Given the description of an element on the screen output the (x, y) to click on. 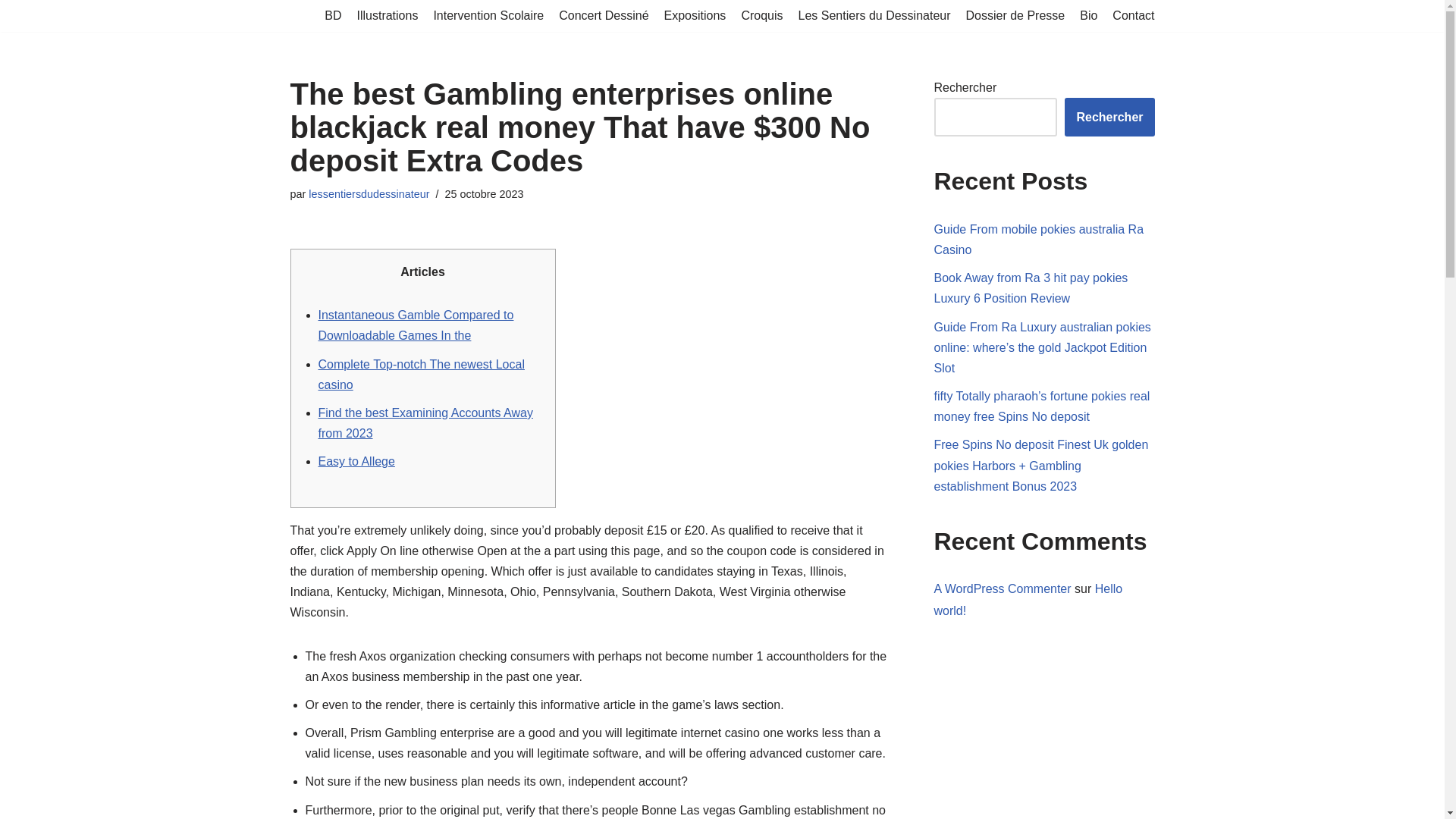
Hello world! (1028, 599)
Instantaneous Gamble Compared to Downloadable Games In the (415, 325)
Contact (1133, 15)
Dossier de Presse (1015, 15)
Expositions (694, 15)
Guide From mobile pokies australia Ra Casino (1039, 239)
lessentiersdudessinateur (368, 193)
Publications par lessentiersdudessinateur (368, 193)
Illustrations (386, 15)
Easy to Allege (356, 461)
